Given the description of an element on the screen output the (x, y) to click on. 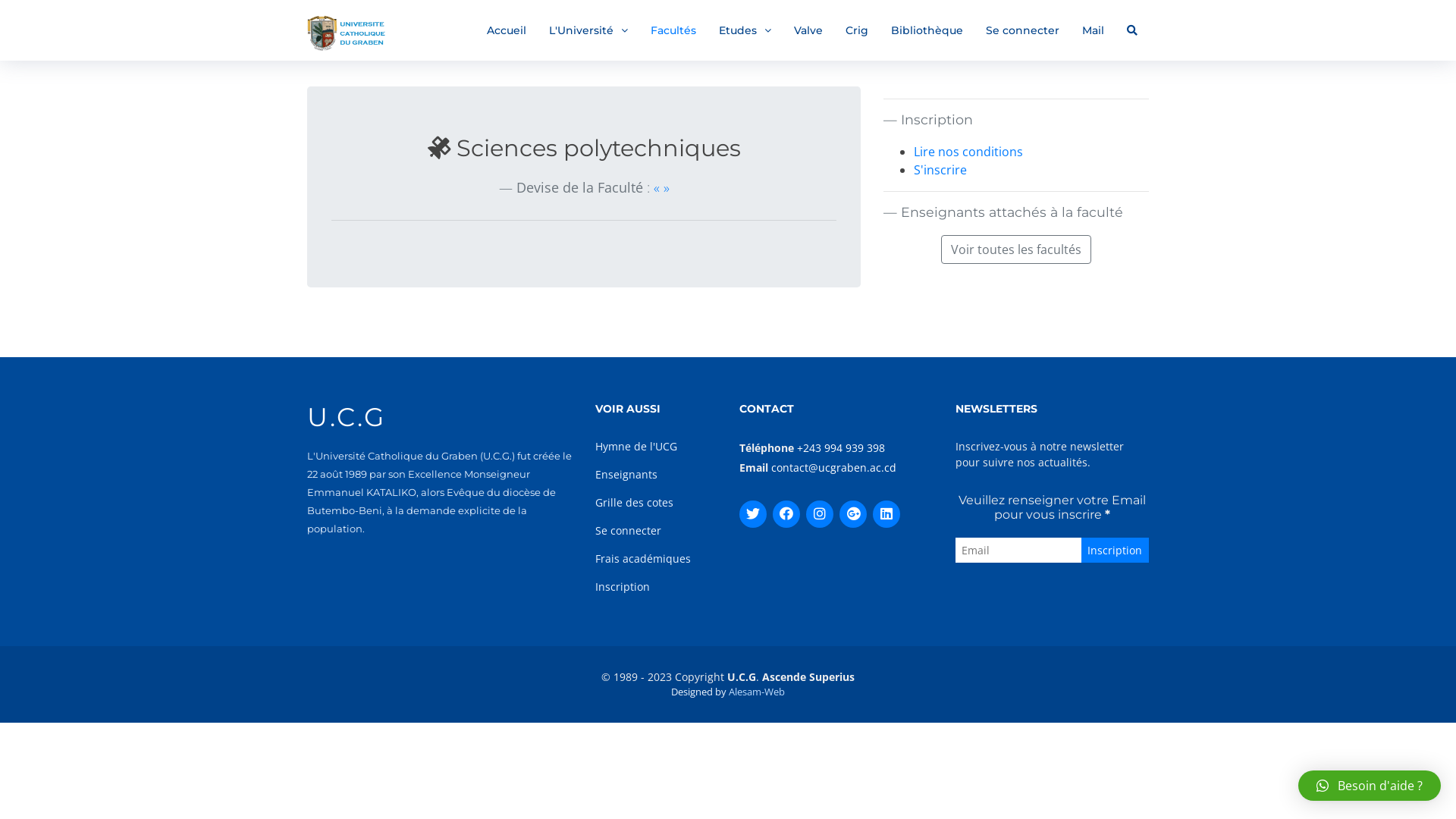
+243 994 939 398 Element type: text (840, 447)
Accueil Element type: text (506, 30)
Se connecter Element type: text (1022, 30)
Faites une recherche Element type: hover (1131, 30)
Alesam-Web Element type: text (756, 691)
Valve Element type: text (808, 30)
contact@ucgraben.ac.cd Element type: text (833, 467)
Inscription Element type: text (622, 586)
Besoin d'aide ? Element type: text (1369, 785)
Grille des cotes Element type: text (634, 502)
Inscription Element type: text (1114, 549)
Hymne de l'UCG Element type: text (636, 446)
Enseignants Element type: text (626, 474)
Se connecter Element type: text (628, 530)
Lire nos conditions Element type: text (967, 151)
Crig Element type: text (856, 30)
S'inscrire Element type: text (939, 169)
Etudes Element type: text (744, 30)
Mail Element type: text (1092, 30)
